Given the description of an element on the screen output the (x, y) to click on. 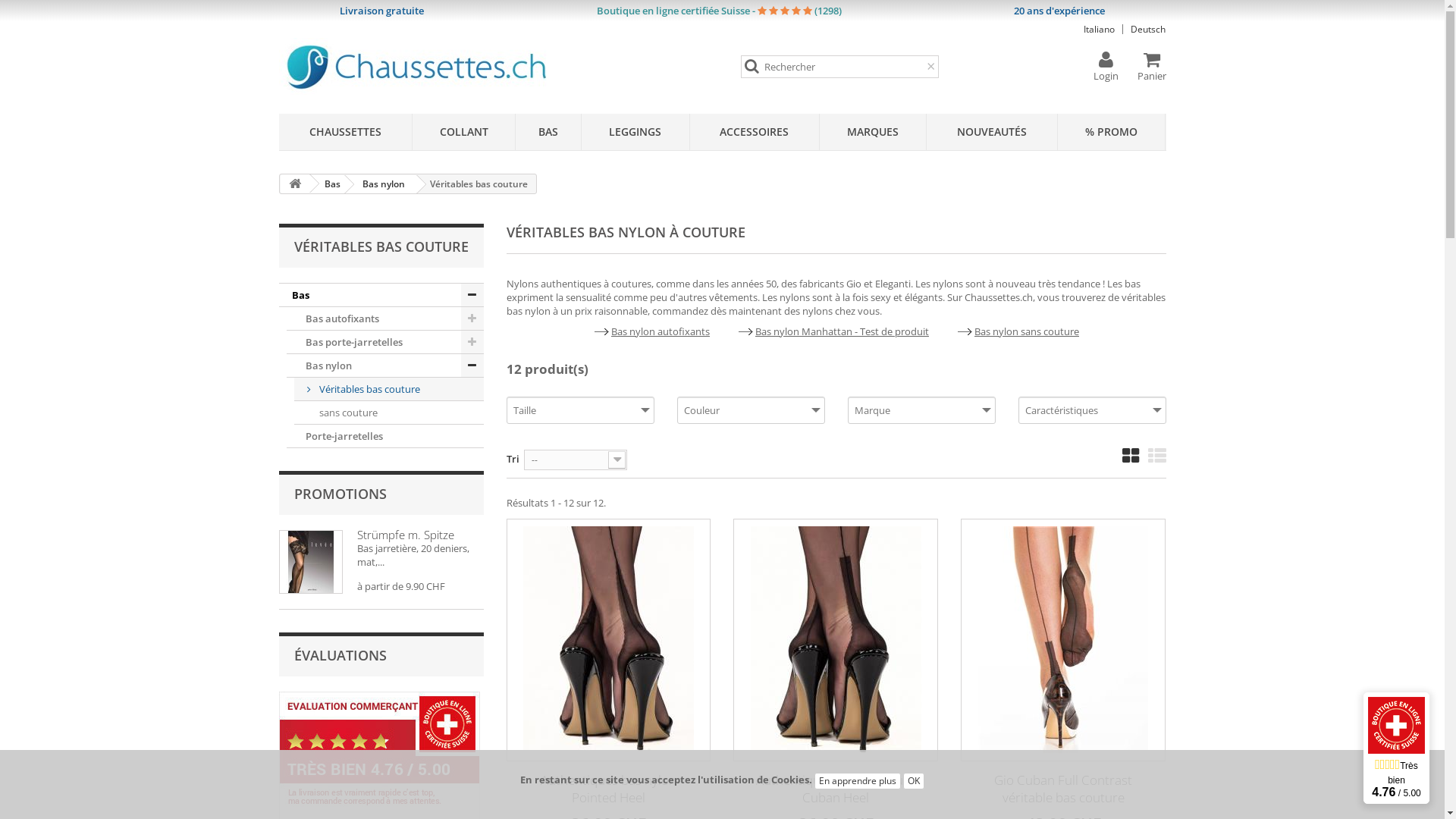
Chaussettes.ch Element type: hover (470, 65)
Panier Element type: text (1151, 66)
Bas nylon Element type: text (384, 365)
Italiano Element type: text (1098, 29)
Bas Element type: text (329, 184)
Deutsch Element type: text (1147, 29)
Bas Element type: text (381, 295)
% PROMO Element type: text (1111, 131)
Bas nylon Manhattan - Test de produit Element type: text (841, 331)
OK Element type: text (913, 780)
COLLANT Element type: text (463, 131)
sans couture Element type: text (388, 412)
Porte-jarretelles Element type: text (384, 436)
Bas porte-jarretelles Element type: text (384, 342)
PROMOTIONS Element type: text (340, 493)
Bas nylon Element type: text (380, 184)
ACCESSOIRES Element type: text (754, 131)
En apprendre plus Element type: text (857, 780)
Login Element type: text (1105, 66)
CHAUSSETTES Element type: text (345, 131)
Liste Element type: hover (1157, 455)
BAS Element type: text (547, 131)
Bas autofixants Element type: text (384, 318)
Authentiques bas nylon Pointed Heel Element type: text (608, 788)
Grille Element type: hover (1130, 455)
Bas nylon autofixants Element type: text (660, 331)
Bas nylon sans couture Element type: text (1026, 331)
MARQUES Element type: text (872, 131)
LEGGINGS Element type: text (635, 131)
Authentiques bas nylon Pointed Heel Element type: hover (608, 639)
